Given the description of an element on the screen output the (x, y) to click on. 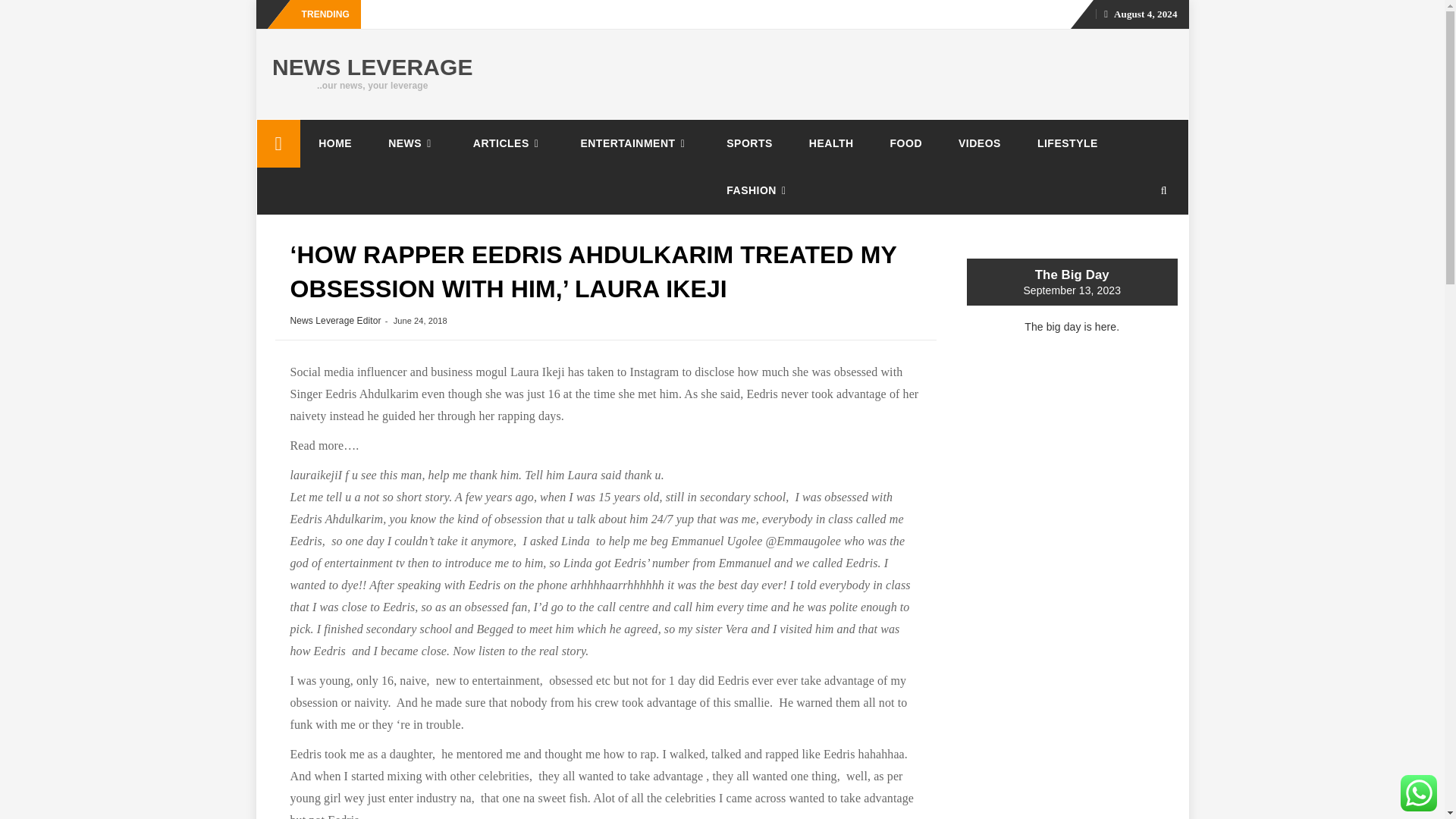
NEWS LEVERAGE (277, 143)
HOME (334, 143)
HEALTH (831, 143)
VIDEOS (979, 143)
NEWS LEVERAGE (372, 66)
News Leverage Editor (334, 320)
ENTERTAINMENT (634, 143)
Edited (599, 562)
NEWS (411, 143)
LIFESTYLE (1067, 143)
FOOD (906, 143)
